Given the description of an element on the screen output the (x, y) to click on. 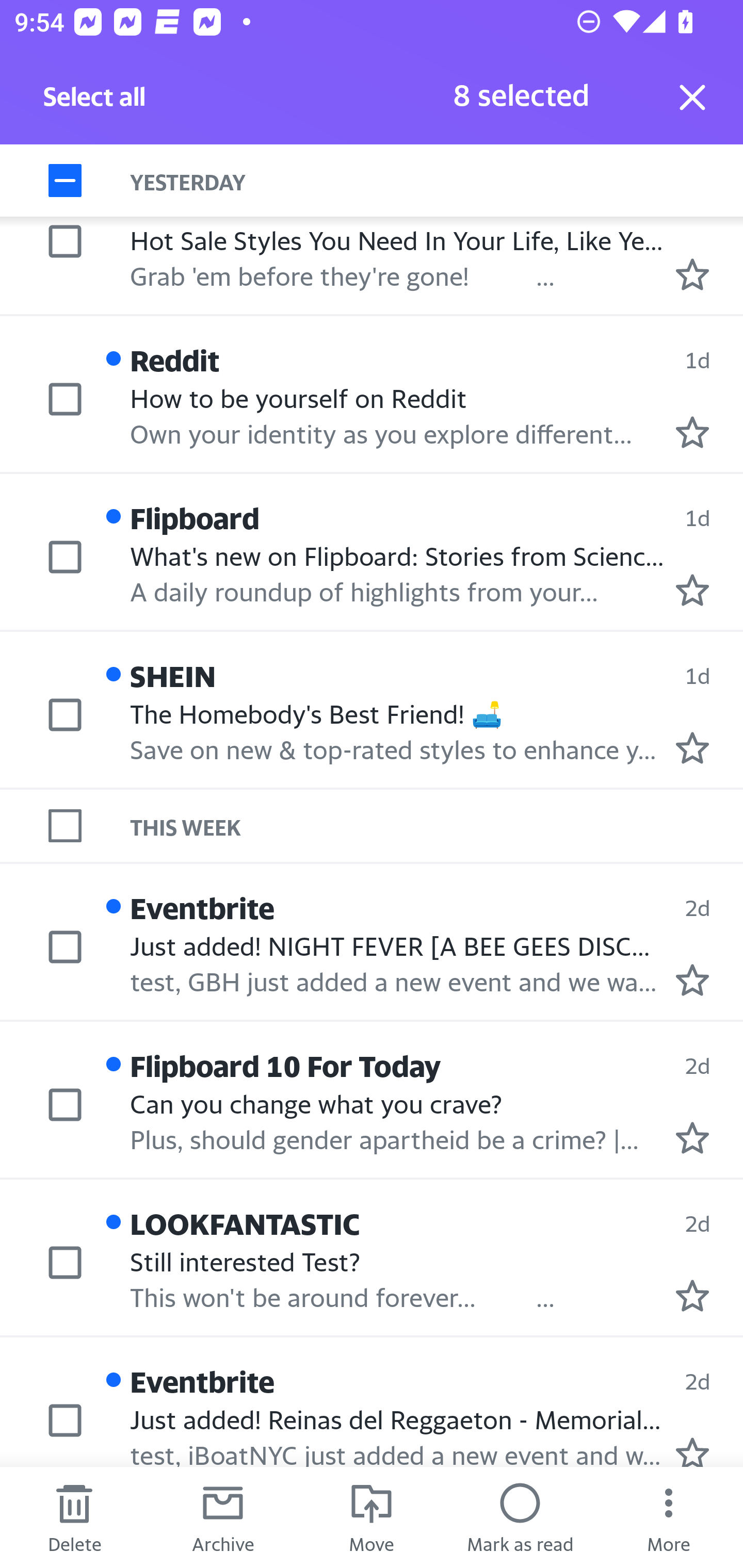
Exit selection mode (692, 97)
Select all (94, 101)
Mark as starred. (692, 274)
Mark as starred. (692, 431)
Mark as starred. (692, 590)
Mark as starred. (692, 747)
THIS WEEK (436, 825)
Mark as starred. (692, 979)
Mark as starred. (692, 1137)
Mark as starred. (692, 1295)
Mark as starred. (692, 1450)
Delete (74, 1517)
Archive (222, 1517)
Move (371, 1517)
Mark as read (519, 1517)
More (668, 1517)
